Given the description of an element on the screen output the (x, y) to click on. 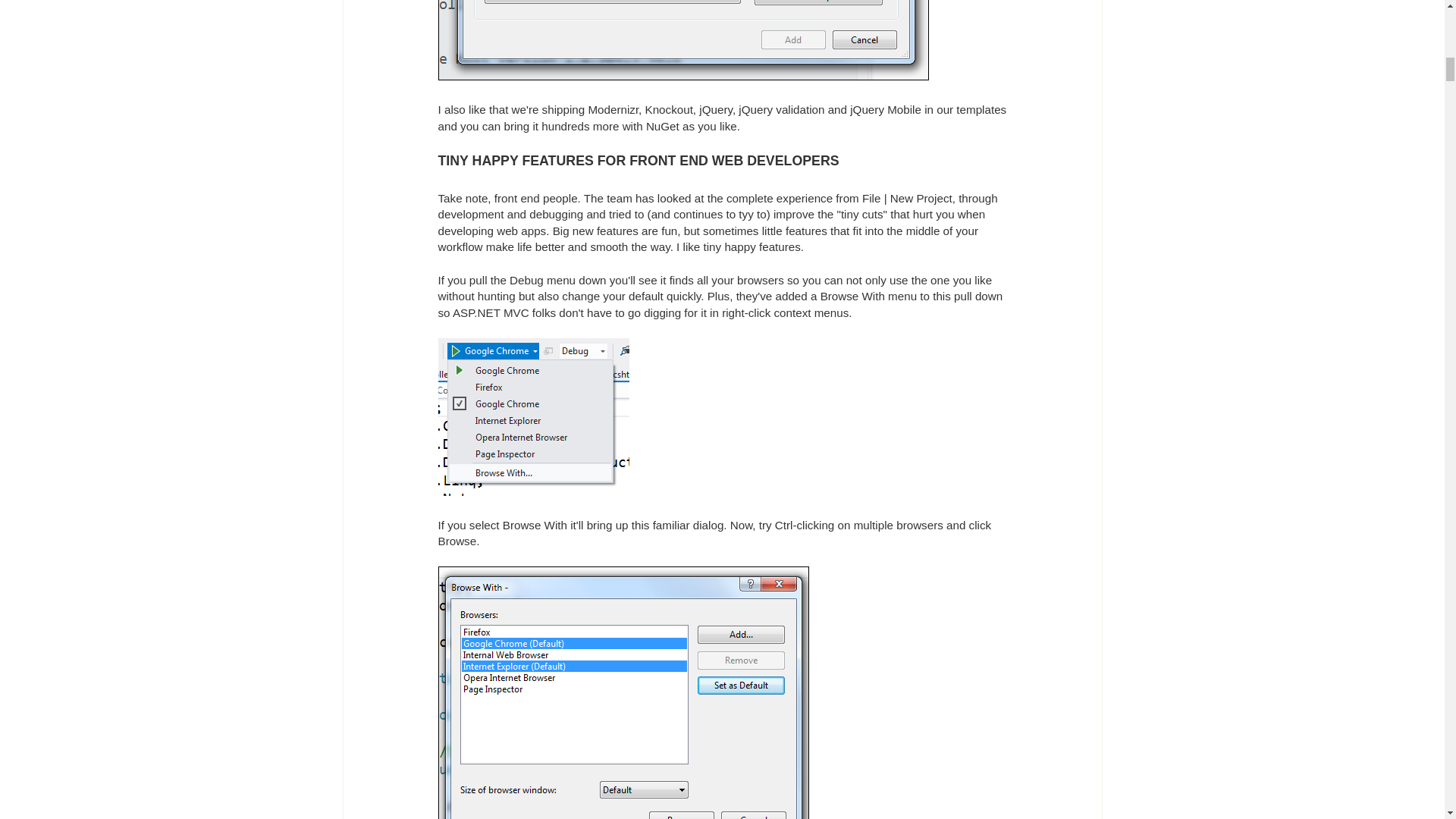
Web API has Scaffolding too! (683, 40)
The debug dropdown now include a Browse With option (533, 417)
Browse With supports multiple selection (623, 692)
